Given the description of an element on the screen output the (x, y) to click on. 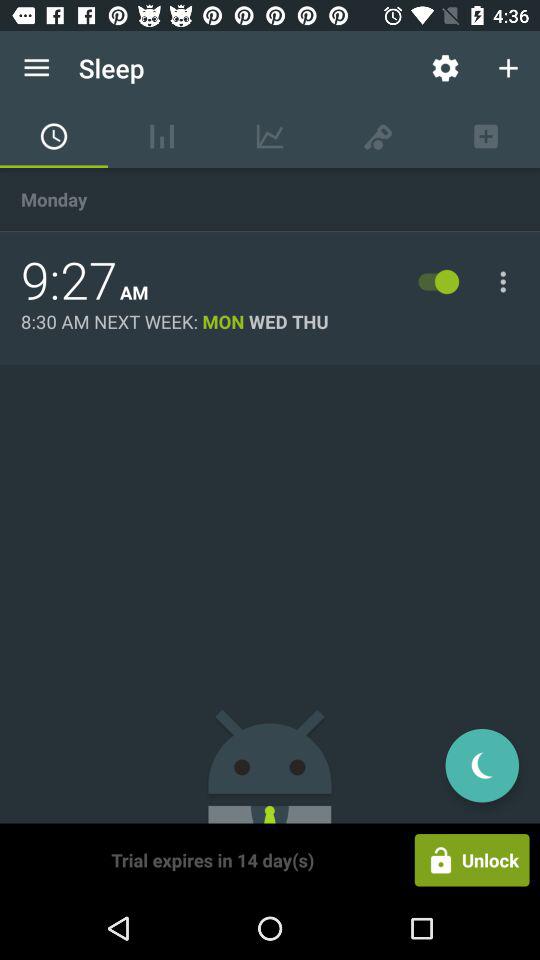
press the item below monday item (69, 281)
